Given the description of an element on the screen output the (x, y) to click on. 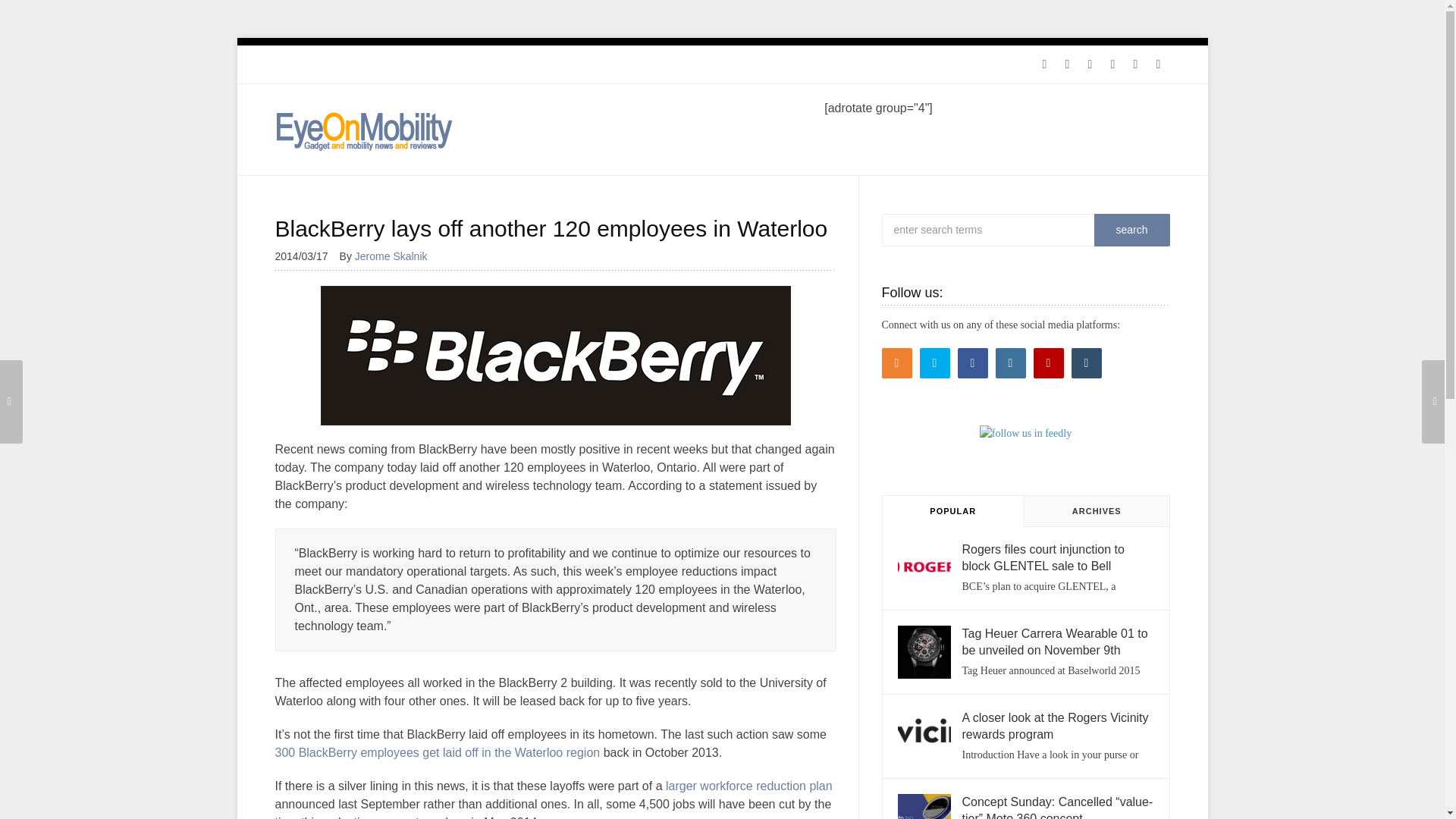
larger workforce reduction plan (748, 785)
Home (296, 64)
Guides (398, 64)
About Us (453, 64)
View all posts by Jerome Skalnik (397, 256)
Jerome Skalnik (397, 256)
Search (1131, 229)
300 BlackBerry employees get laid off in the Waterloo region (437, 752)
EyeOnMobility (363, 129)
Reviews (346, 64)
Search (1131, 229)
Search (1131, 229)
